Given the description of an element on the screen output the (x, y) to click on. 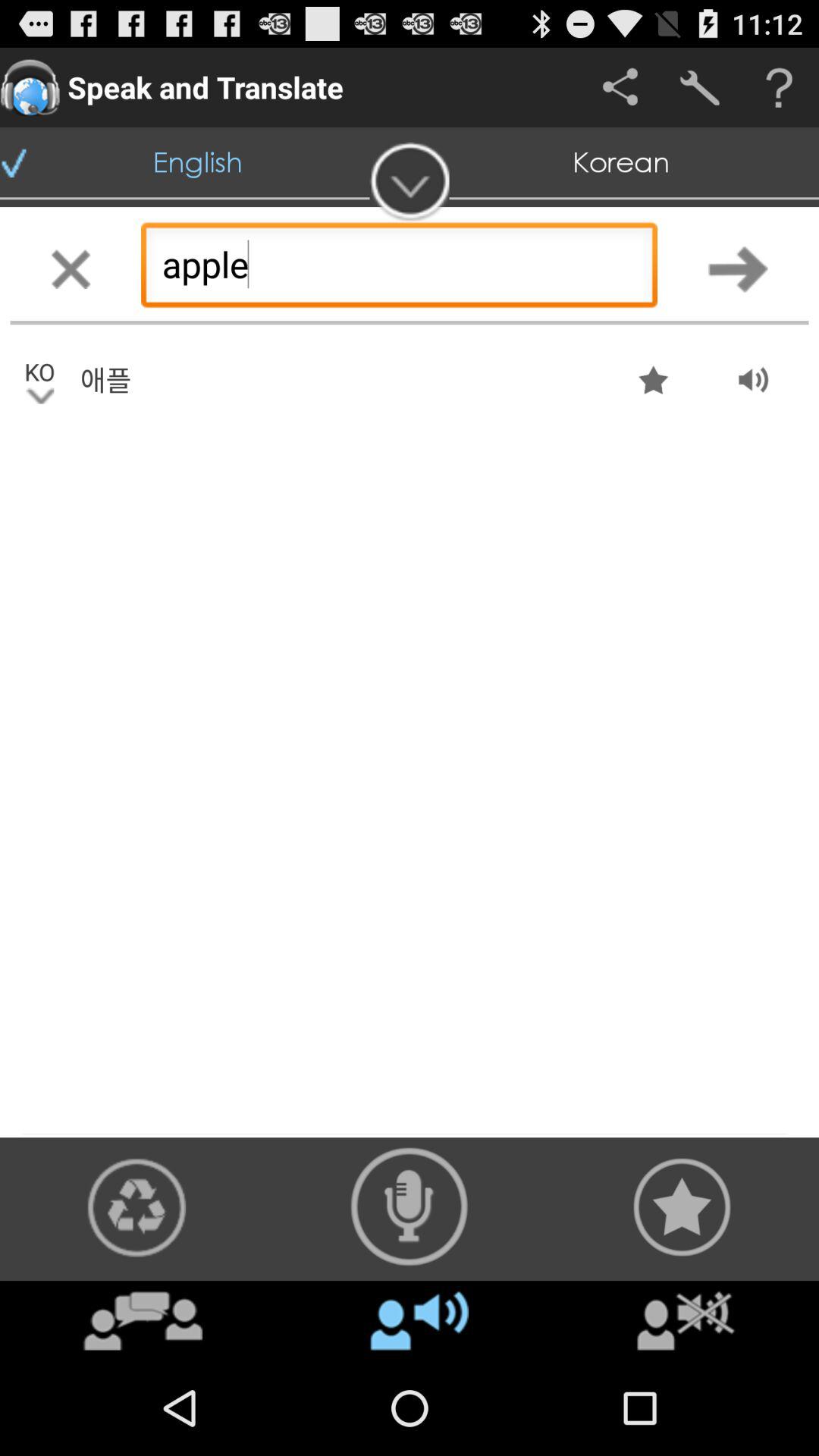
go to next step (738, 268)
